Given the description of an element on the screen output the (x, y) to click on. 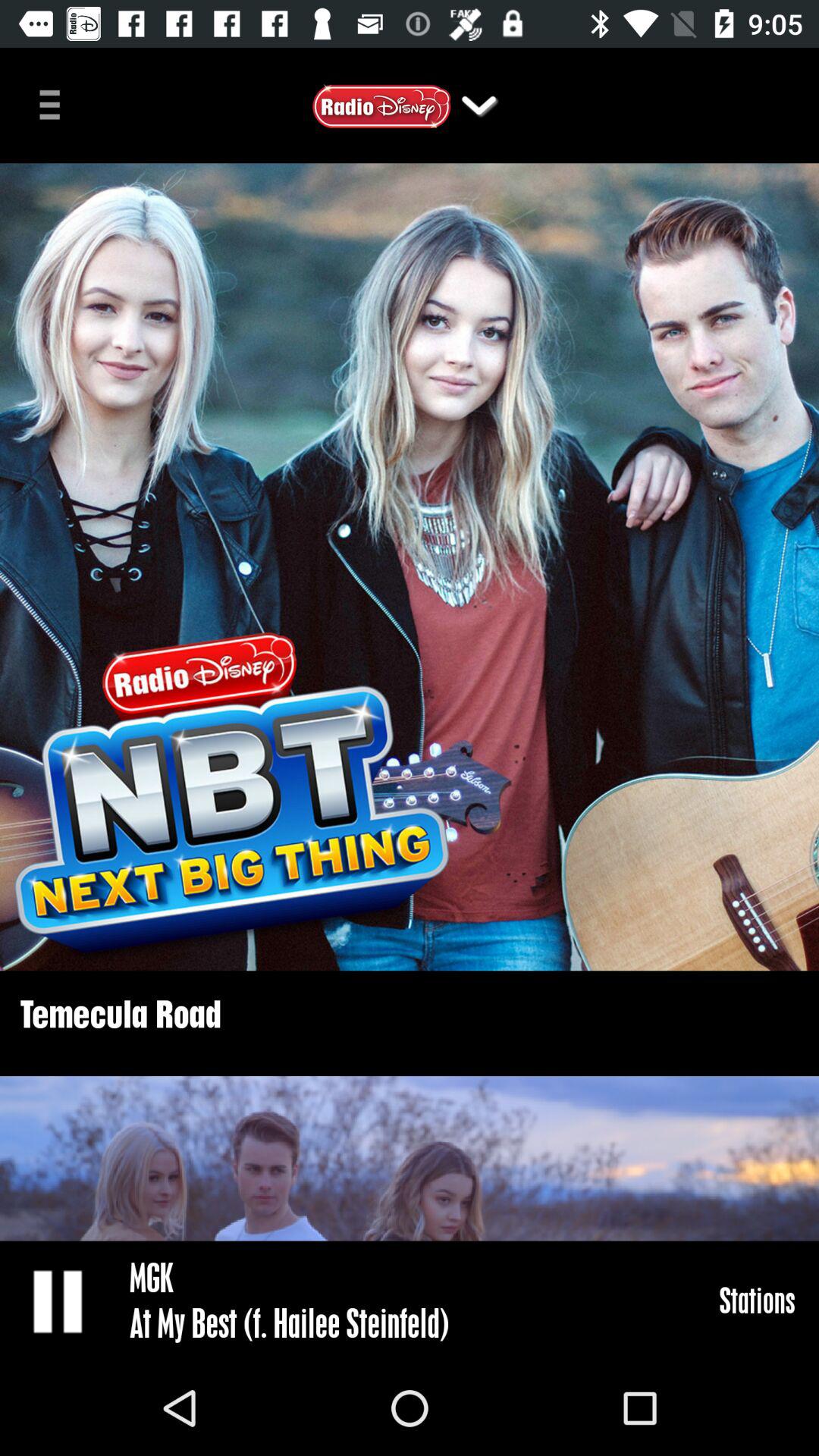
turn on the item at the center (409, 566)
